Given the description of an element on the screen output the (x, y) to click on. 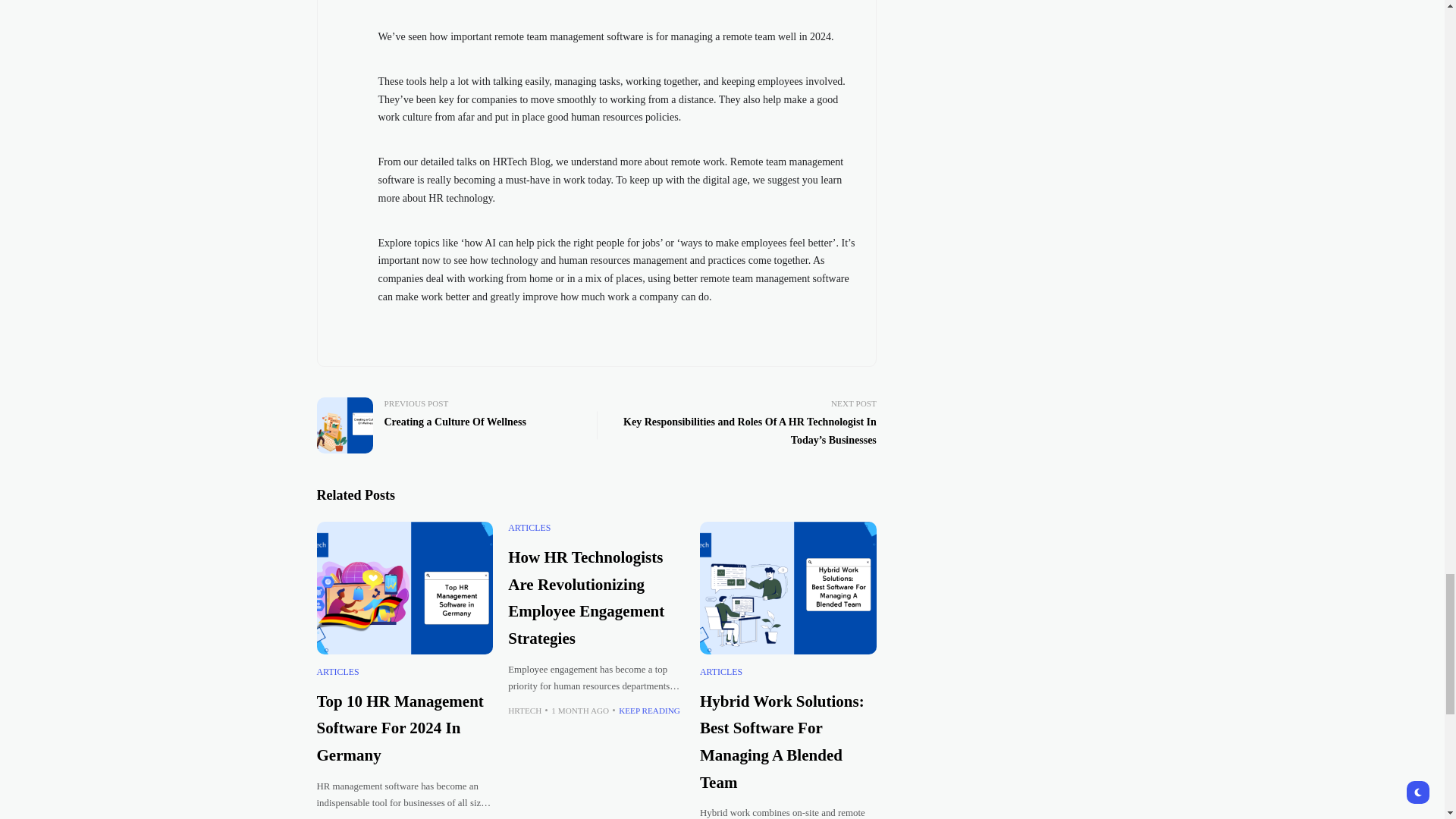
Top 10 HR Management Software For 2024 In Germany (405, 587)
